Given the description of an element on the screen output the (x, y) to click on. 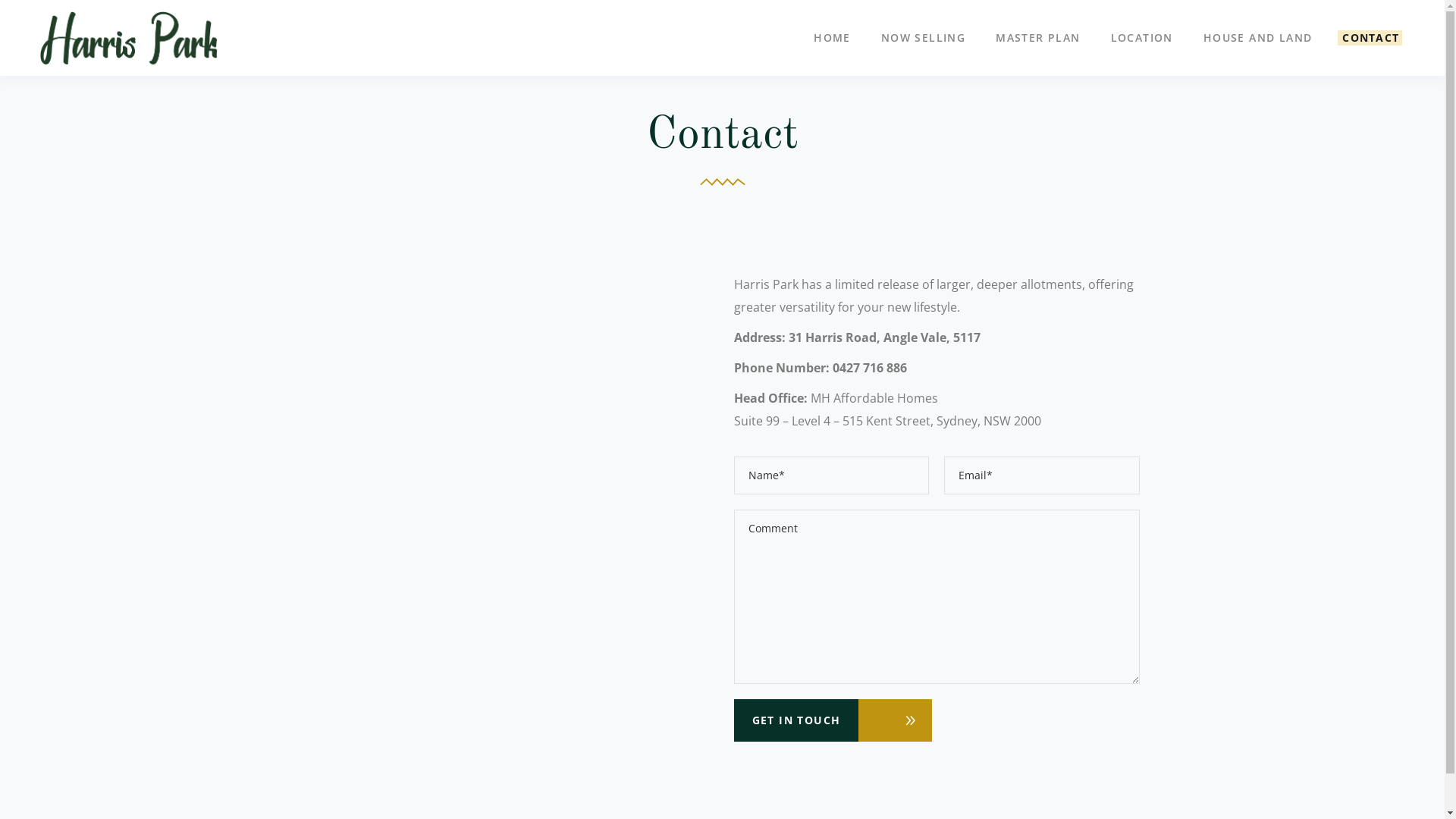
HOUSE AND LAND Element type: text (1257, 37)
MASTER PLAN Element type: text (1037, 37)
HOME Element type: text (832, 37)
LOCATION Element type: text (1141, 37)
GET IN TOUCH Element type: text (796, 720)
CONTACT Element type: text (1370, 37)
NOW SELLING Element type: text (923, 37)
